Given the description of an element on the screen output the (x, y) to click on. 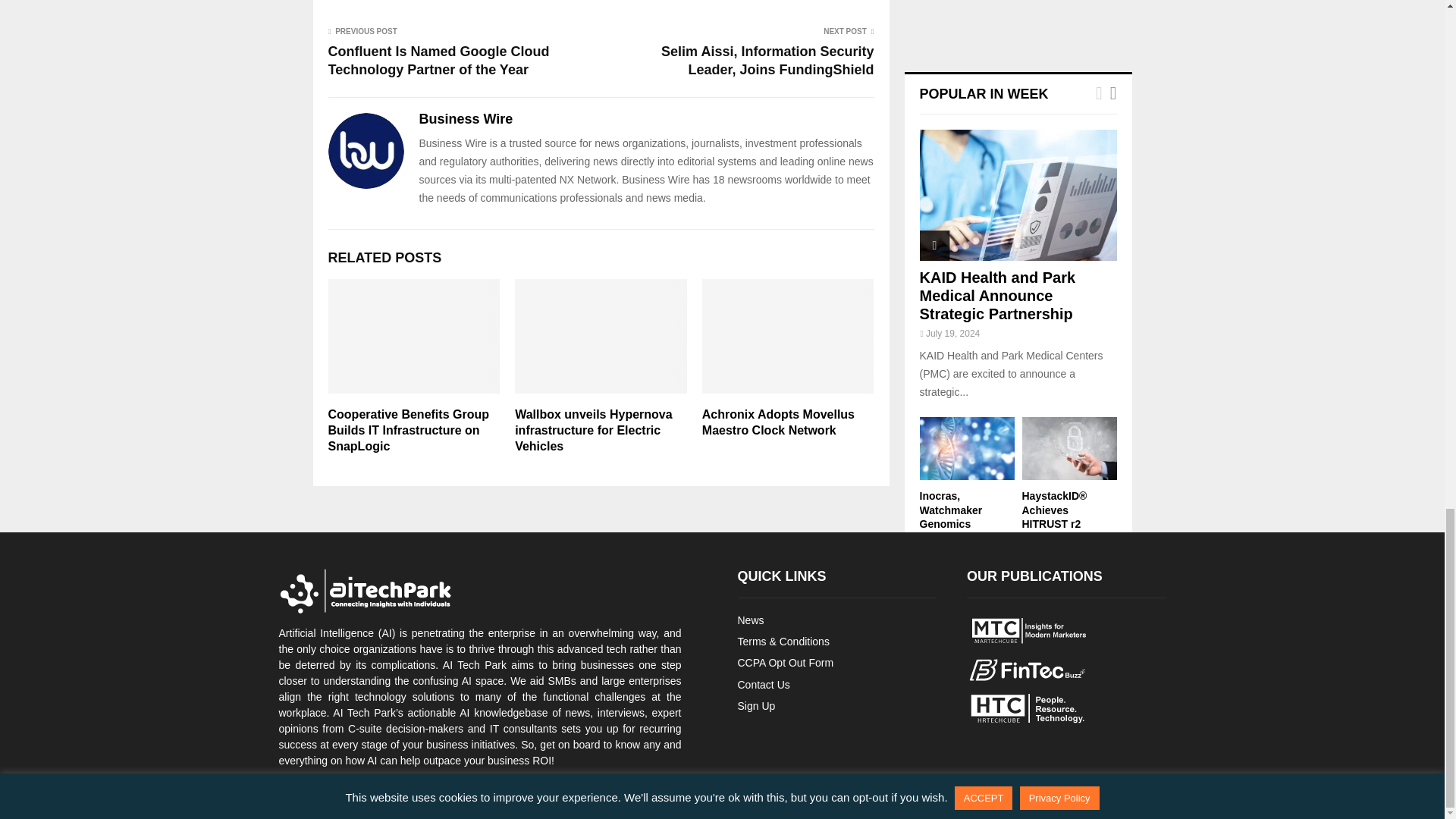
Posts by Business Wire (465, 118)
